Given the description of an element on the screen output the (x, y) to click on. 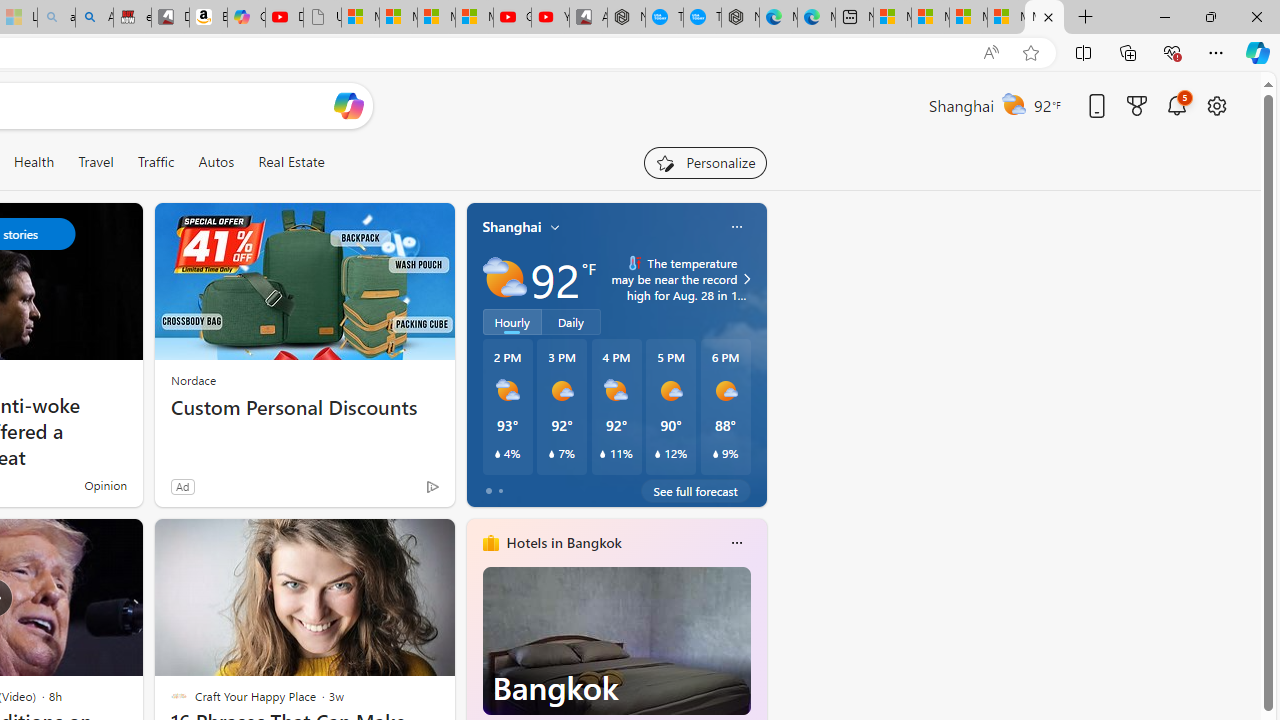
Hourly (511, 321)
Nordace - My Account (626, 17)
Autos (216, 162)
My location (555, 227)
This story is trending (393, 490)
